Given the description of an element on the screen output the (x, y) to click on. 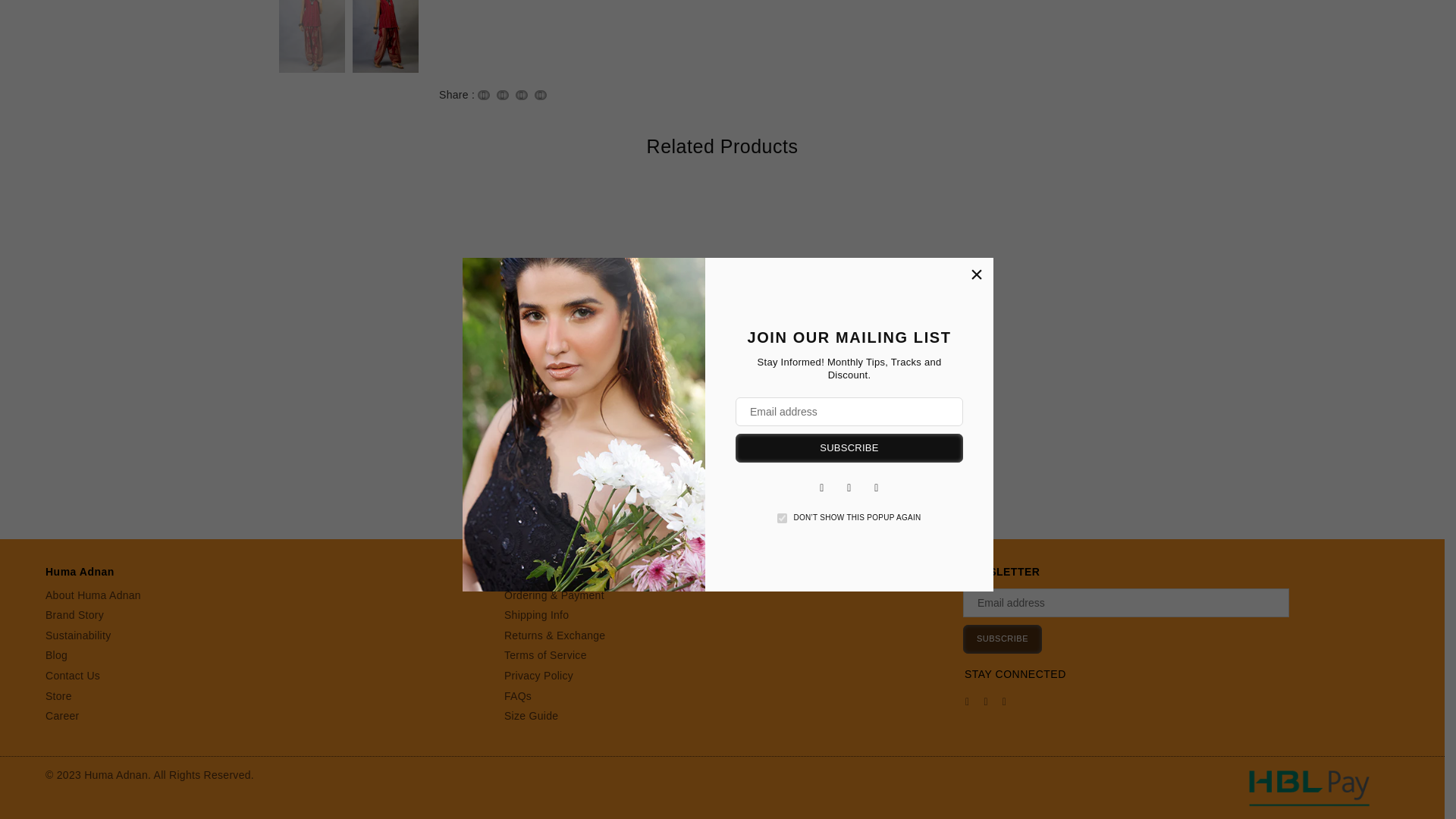
Share by Email (540, 94)
Pin on Pinterest (521, 94)
Tweet on Twitter (502, 94)
Share on Facebook (483, 94)
